Given the description of an element on the screen output the (x, y) to click on. 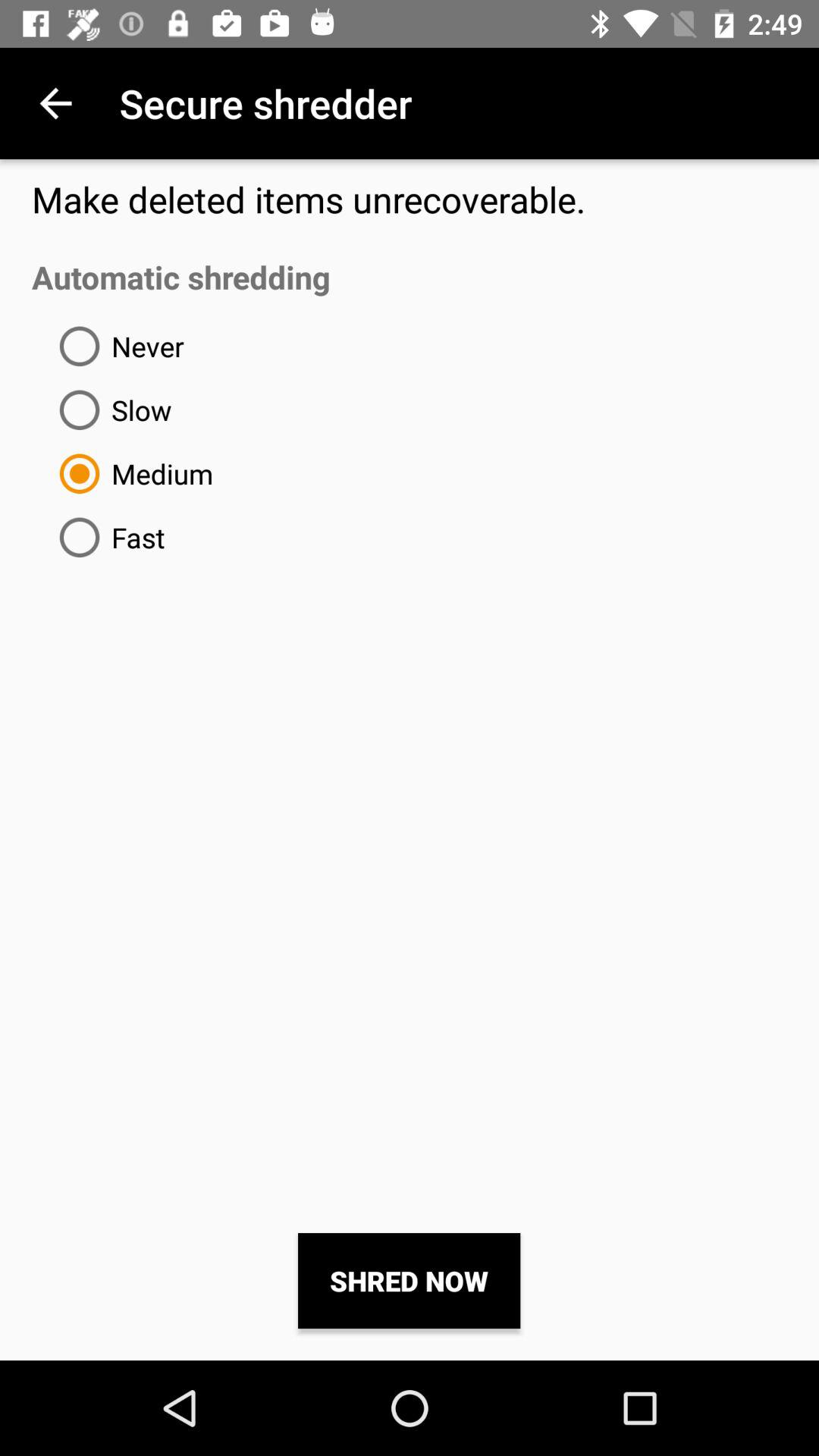
turn off the never item (115, 346)
